Given the description of an element on the screen output the (x, y) to click on. 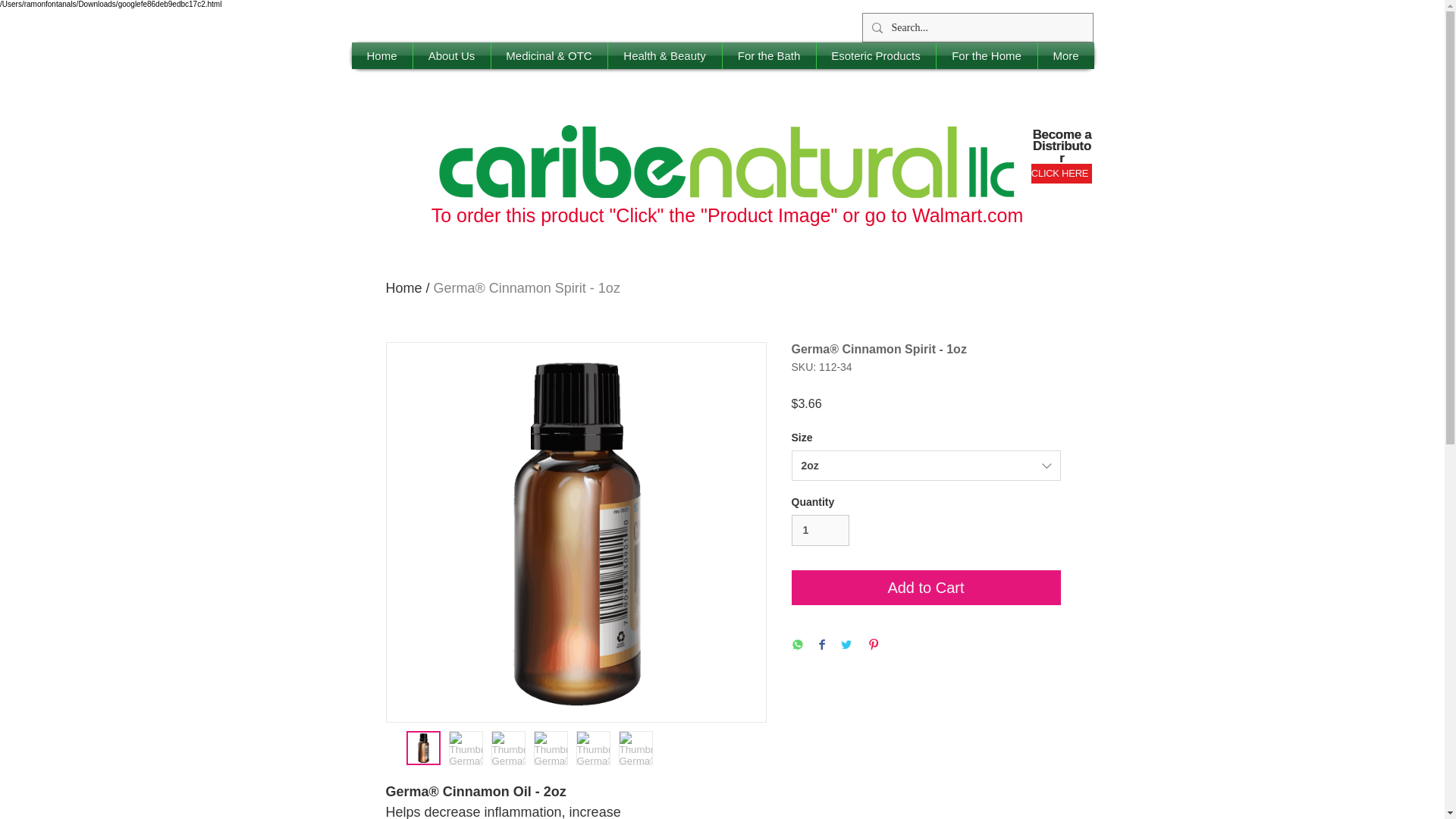
Home (382, 55)
Esoteric Products (874, 55)
1 (820, 530)
For the Home (986, 55)
CLICK HERE (1061, 173)
For the Bath (768, 55)
